Given the description of an element on the screen output the (x, y) to click on. 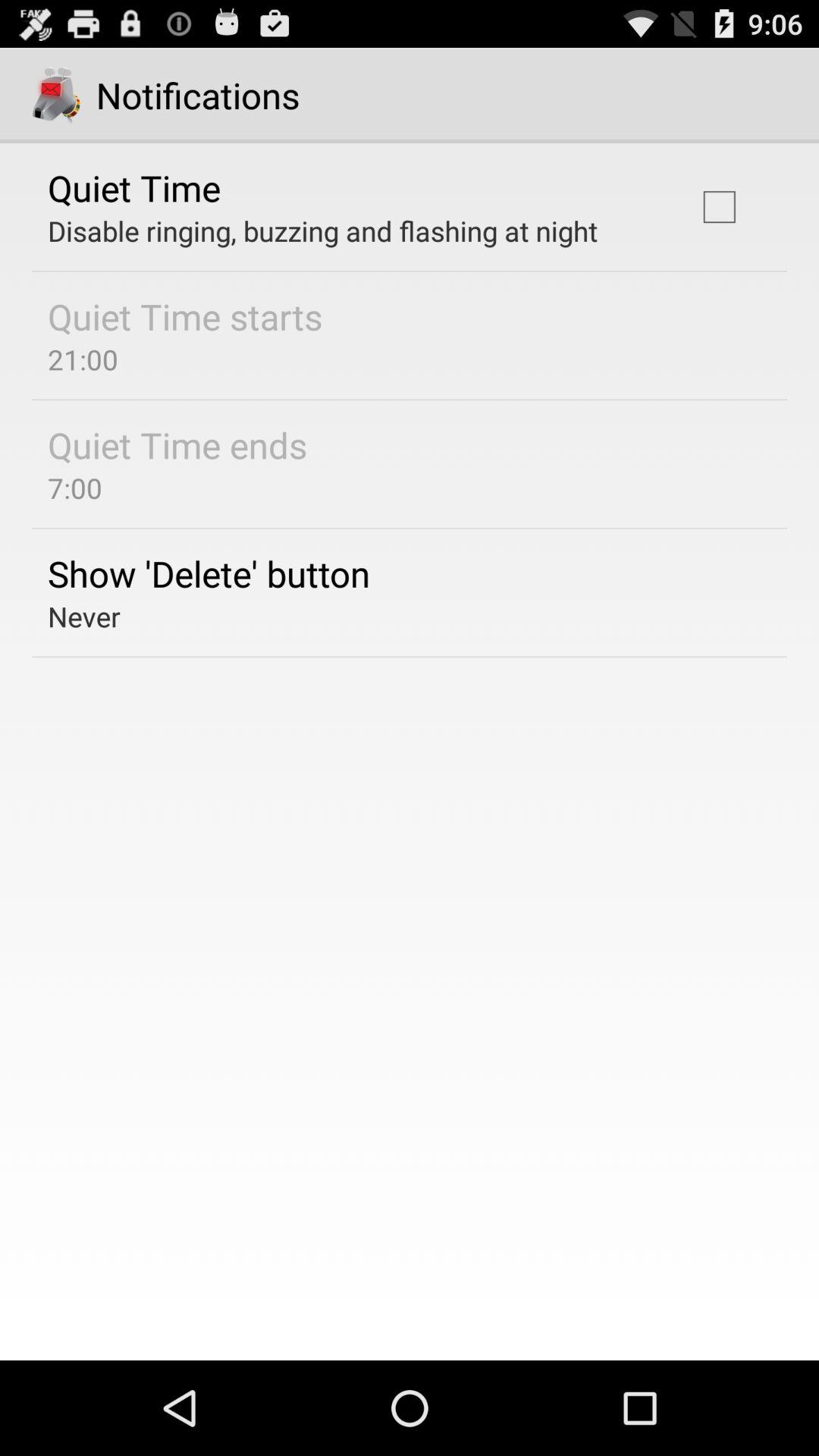
tap the icon next to the disable ringing buzzing (719, 206)
